Given the description of an element on the screen output the (x, y) to click on. 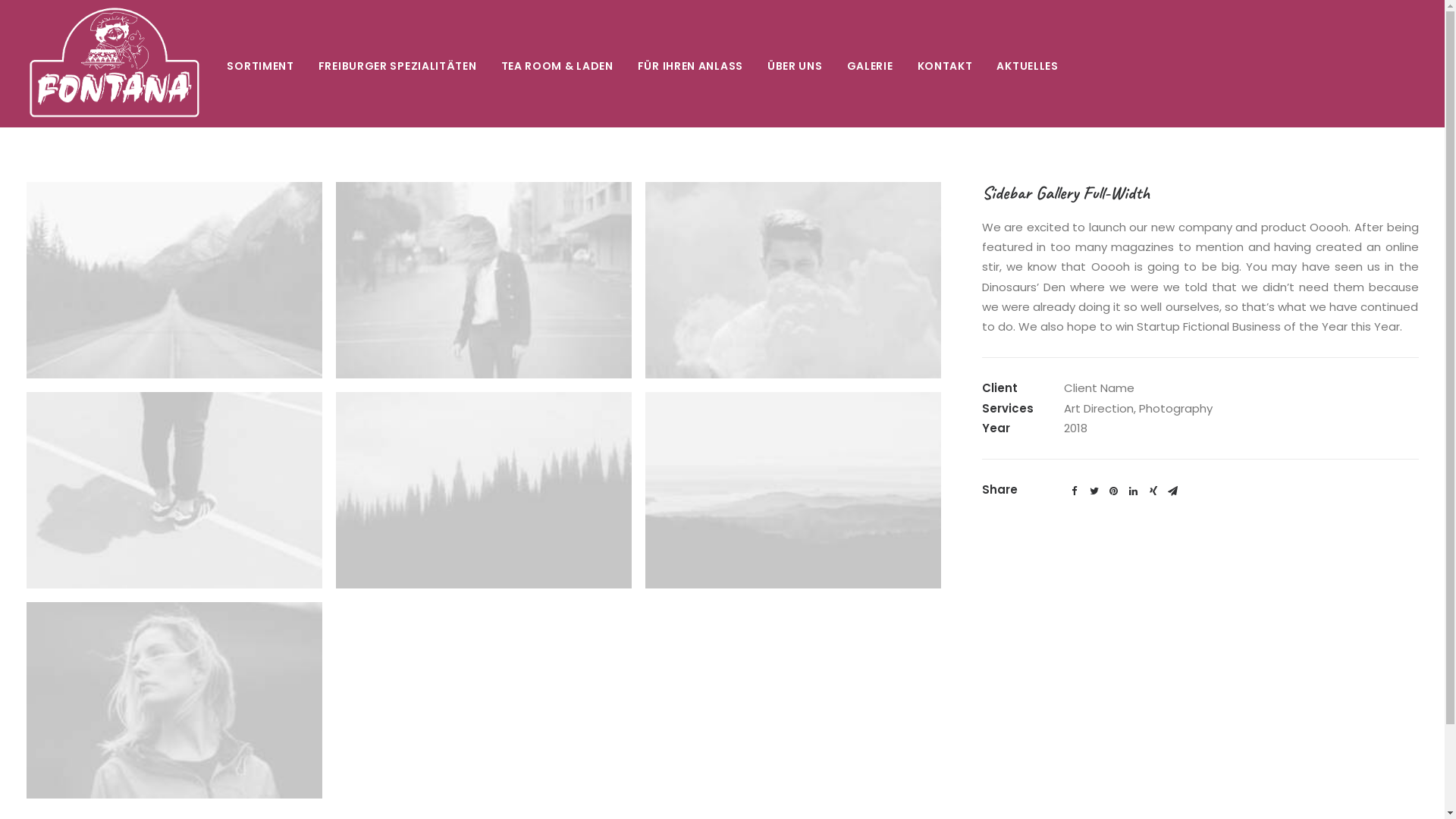
SORTIMENT Element type: text (265, 63)
AKTUELLES Element type: text (1021, 63)
KONTAKT Element type: text (944, 63)
GALERIE Element type: text (869, 63)
TEA ROOM & LADEN Element type: text (557, 63)
